Given the description of an element on the screen output the (x, y) to click on. 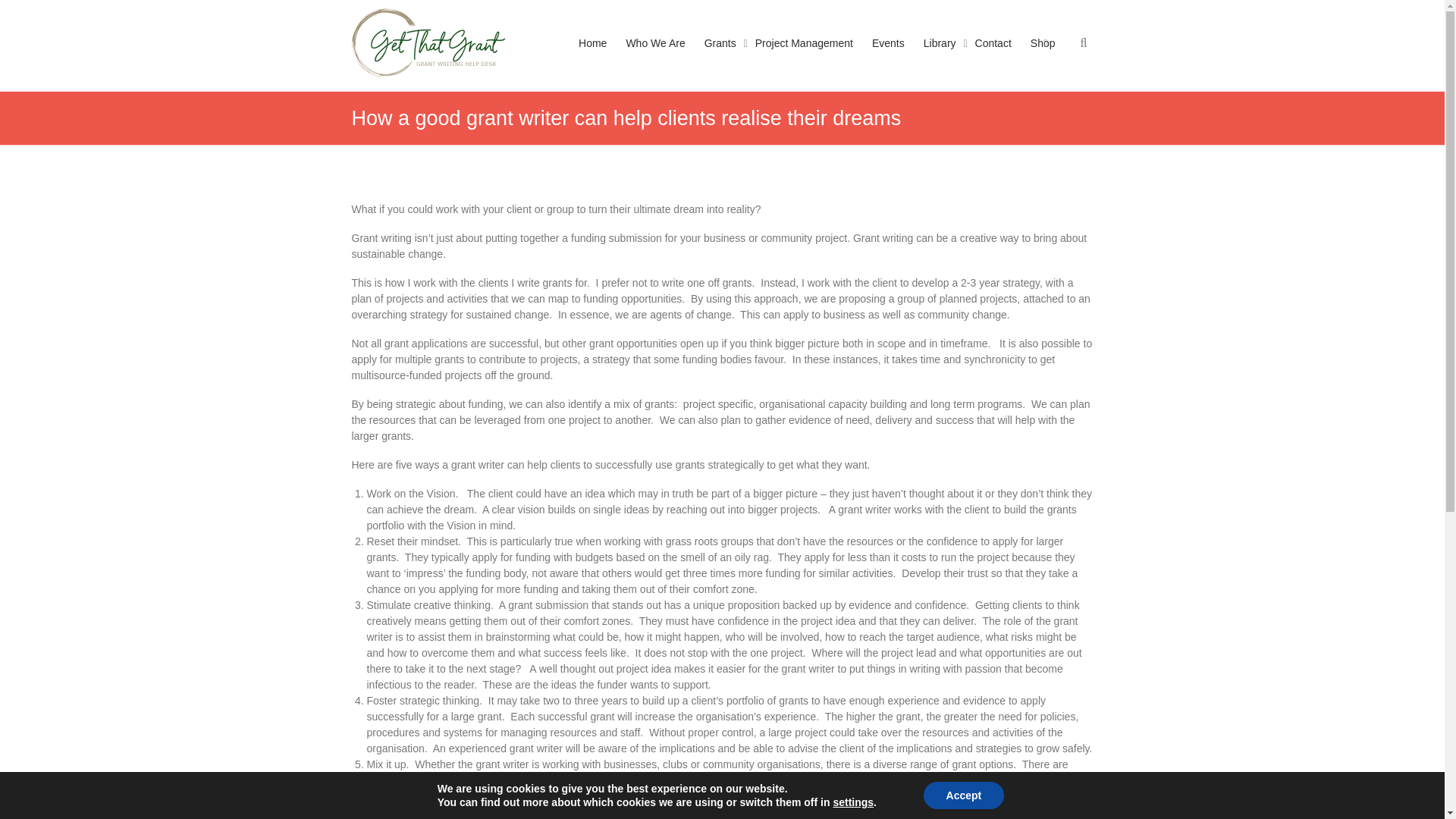
Library (939, 57)
Grants (720, 57)
Contact (993, 57)
Home (592, 57)
Shop (1042, 57)
Project Management (804, 57)
Events (888, 57)
Who We Are (655, 57)
